Given the description of an element on the screen output the (x, y) to click on. 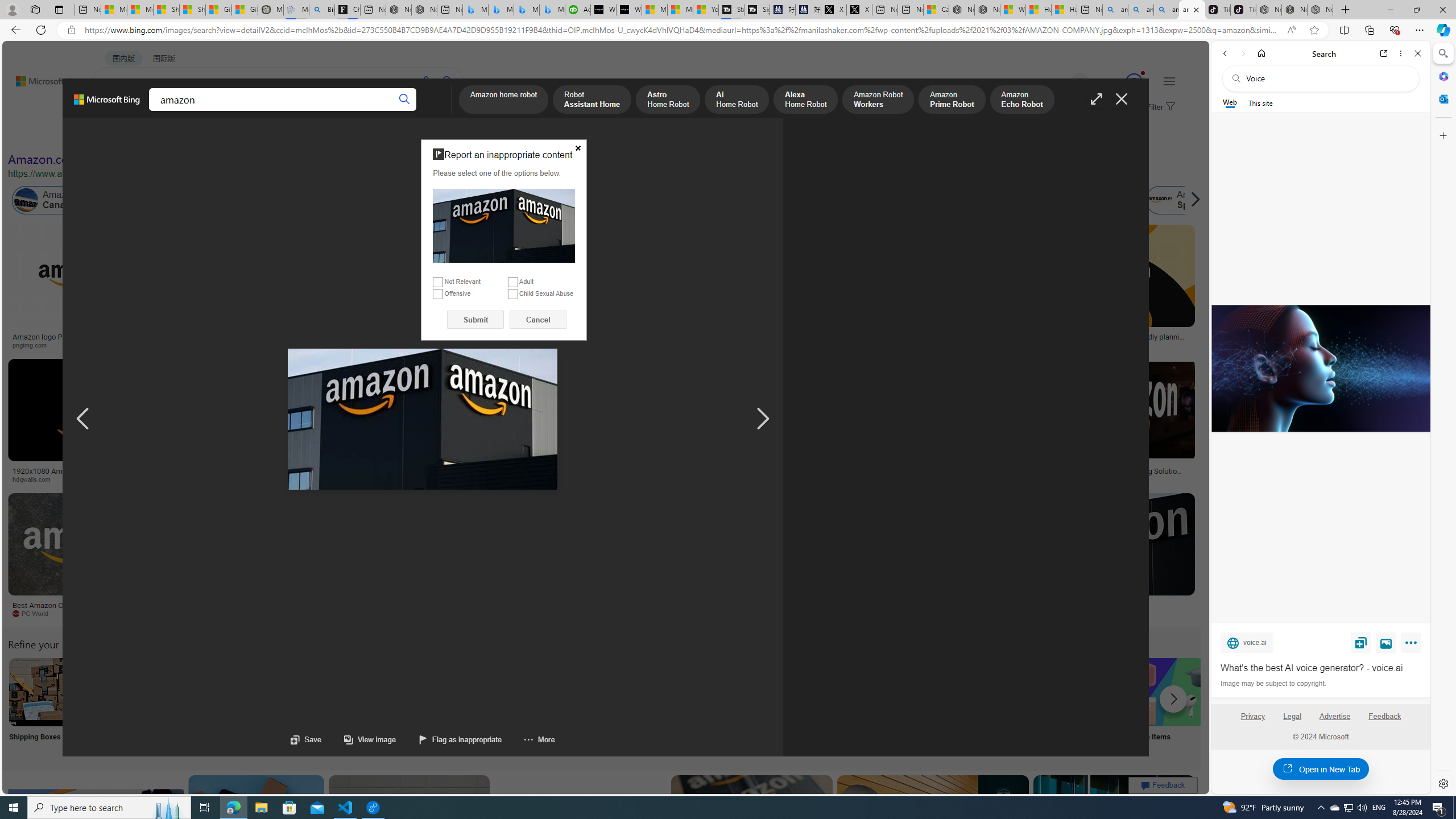
Settings and quick links (1168, 80)
hdqwalls.com (35, 479)
vecteezy.com (938, 479)
Legal (1292, 720)
Listen: What's next for Amazon? (403, 336)
Amazon Labor Law Violation in California (564, 200)
Prime Label (1018, 706)
manilashaker.com (660, 612)
Dallas Morning News (749, 479)
